Given the description of an element on the screen output the (x, y) to click on. 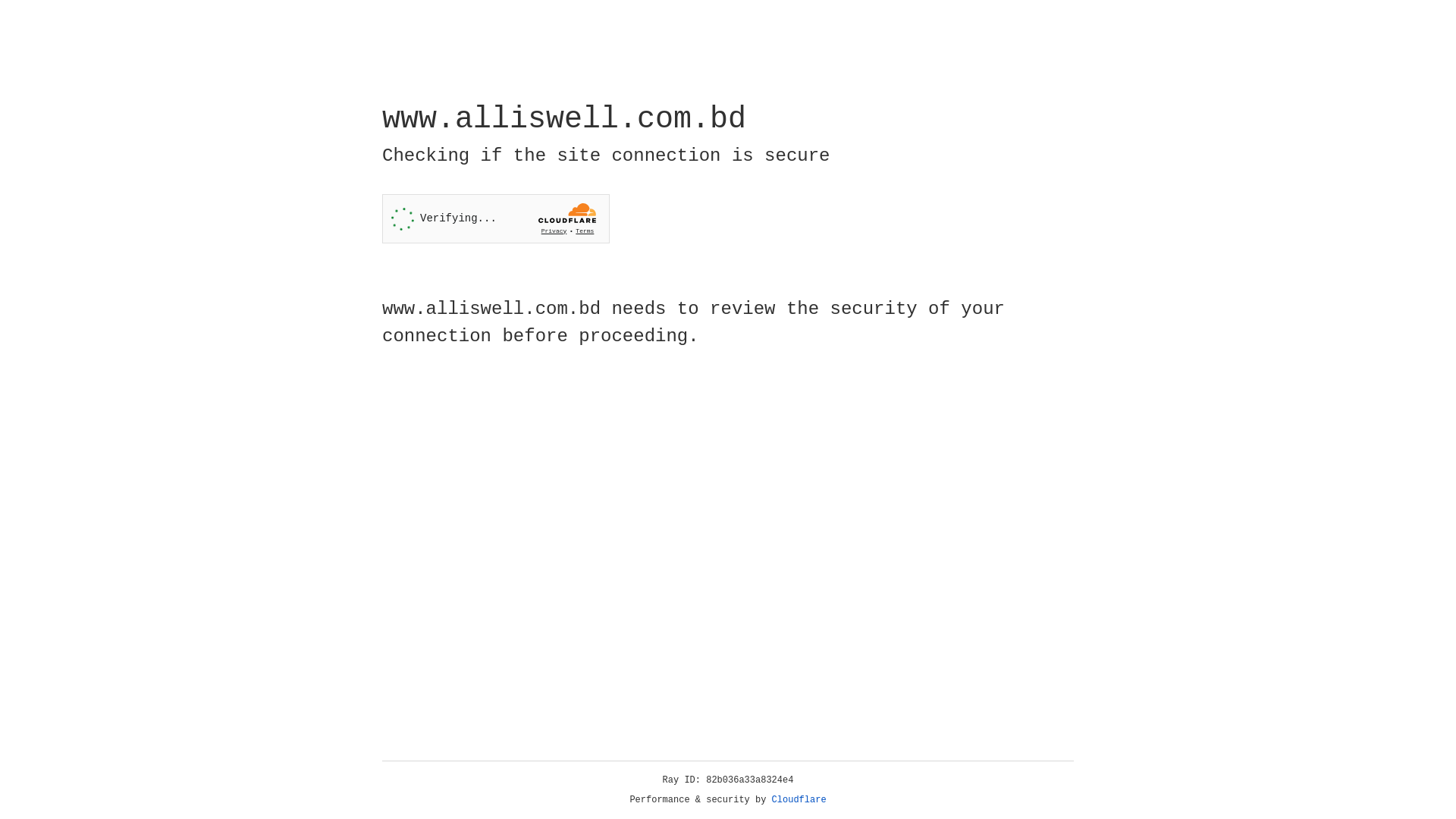
Widget containing a Cloudflare security challenge Element type: hover (495, 218)
Cloudflare Element type: text (798, 799)
